Given the description of an element on the screen output the (x, y) to click on. 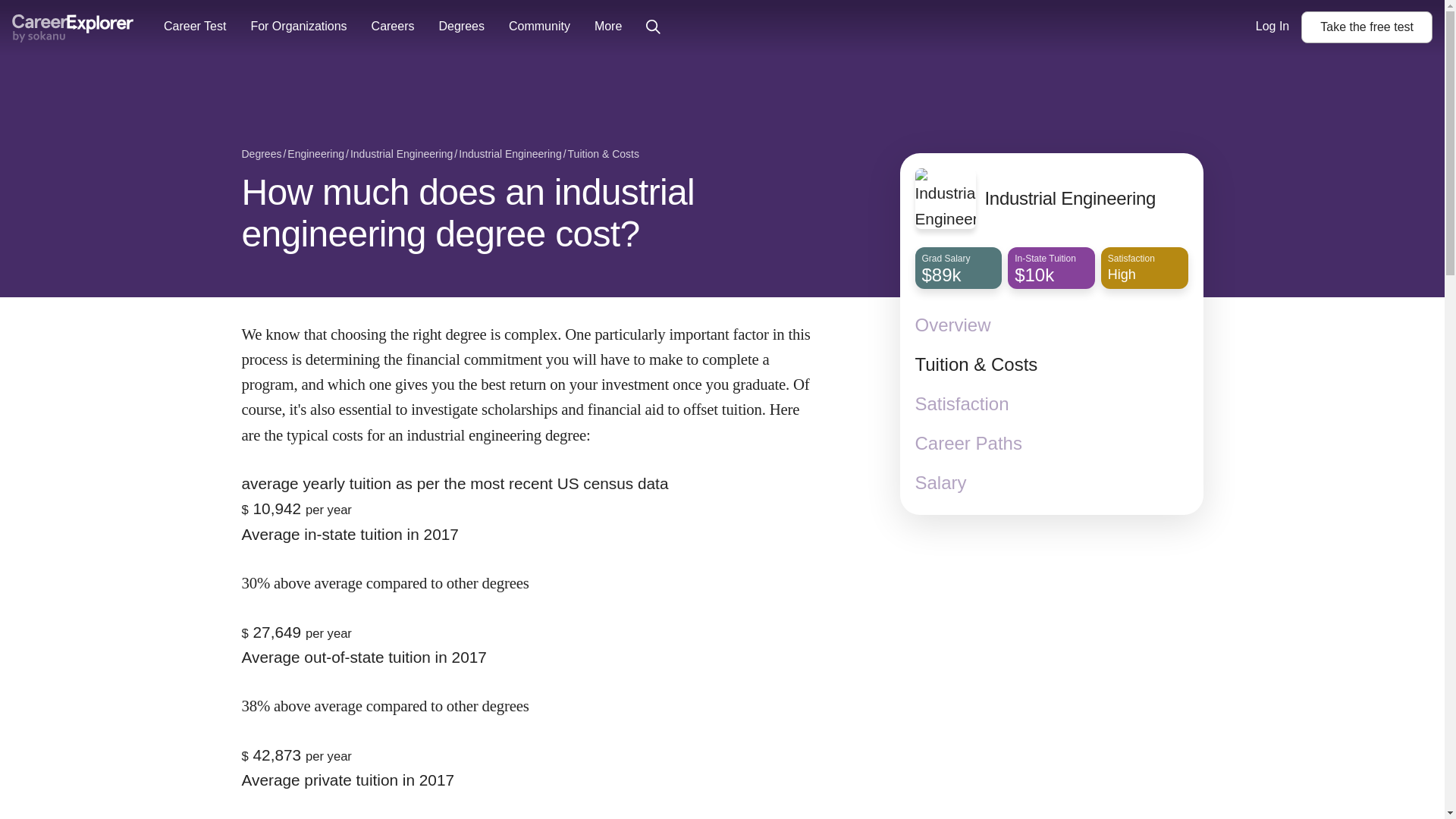
Salary (1051, 482)
Industrial Engineering (401, 154)
Career Paths (1051, 443)
CareerExplorer (72, 28)
CareerExplorer (72, 27)
Career Test (194, 27)
Degrees (261, 154)
Engineering (314, 154)
For Organizations (298, 27)
Overview (1051, 324)
